Given the description of an element on the screen output the (x, y) to click on. 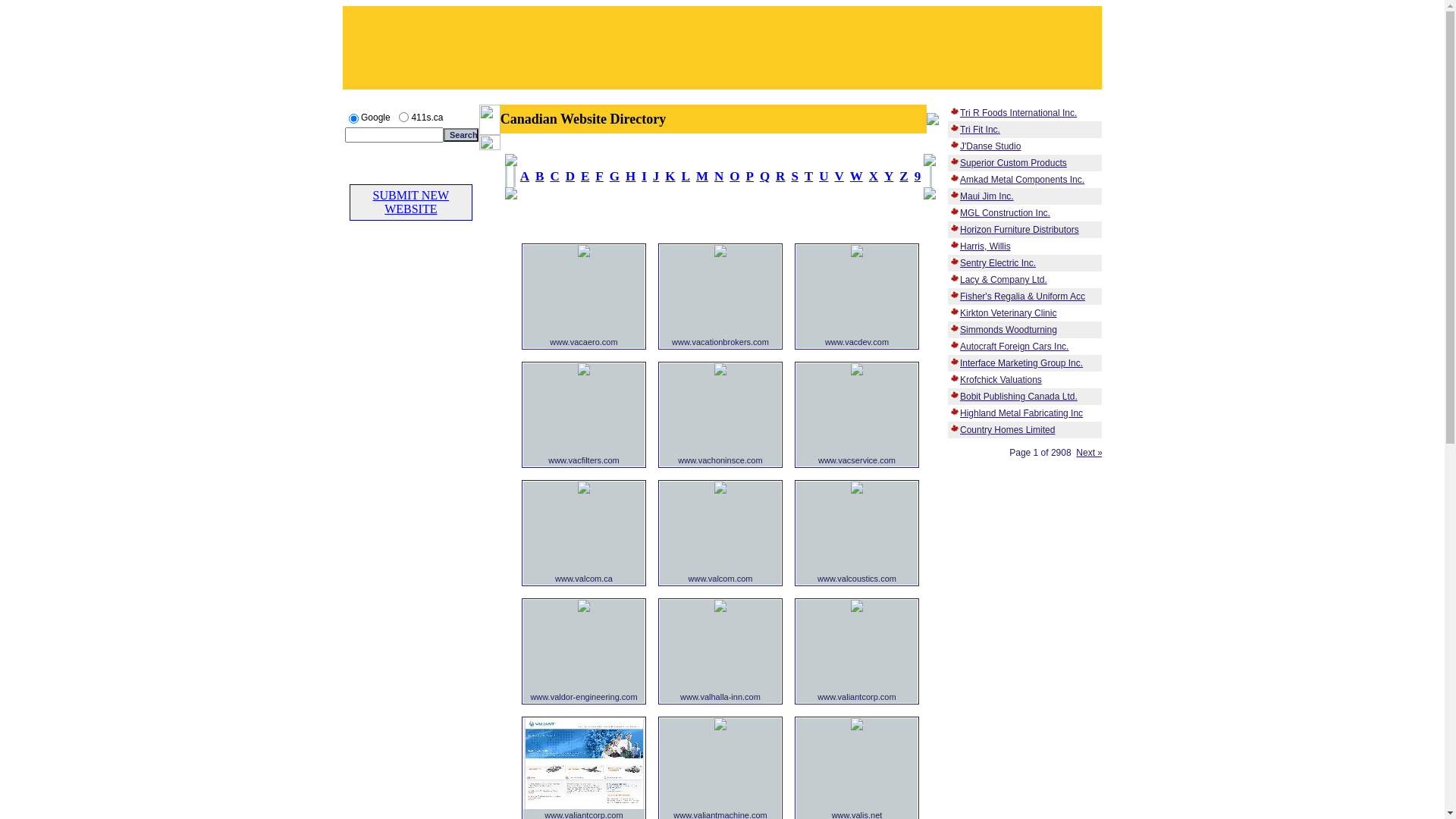
Valcom Manufacturing Group Element type: hover (583, 489)
U Element type: text (823, 176)
Z Element type: text (903, 176)
Y Element type: text (888, 176)
www.valcom.ca Element type: text (583, 578)
www.valcoustics.com Element type: text (856, 578)
K Element type: text (669, 176)
N Element type: text (718, 176)
P Element type: text (749, 176)
Vac Developments Ltd. Element type: hover (856, 252)
www.vacationbrokers.com Element type: text (719, 341)
D Element type: text (569, 176)
Valiant Tool & Mold Inc. Element type: hover (856, 607)
A Element type: text (524, 176)
9 Element type: text (917, 176)
Valis Inc. Element type: hover (856, 725)
T Element type: text (808, 176)
www.vacfilters.com Element type: text (583, 459)
Valhalla Inn - Toronto Element type: hover (720, 607)
G Element type: text (614, 176)
www.valdor-engineering.com Element type: text (583, 696)
O Element type: text (734, 176)
Vacation Brokers Inc. Element type: hover (720, 252)
www.valiantcorp.com Element type: text (856, 696)
F Element type: text (598, 176)
B Element type: text (539, 176)
E Element type: text (584, 176)
www.vacdev.com Element type: text (856, 341)
Valiant Machine & Tool Inc. Element type: hover (720, 725)
SUBMIT NEW WEBSITE Element type: text (411, 201)
X Element type: text (873, 176)
J Element type: text (655, 176)
C Element type: text (553, 176)
S Element type: text (793, 176)
APC Filtration Inc. Element type: hover (583, 370)
www.vacservice.com Element type: text (856, 459)
Global I.E.M. Element type: hover (583, 804)
R Element type: text (779, 176)
L Element type: text (685, 176)
VAC Service of Canada Element type: hover (856, 370)
Valdor Engineering Inc. Element type: hover (583, 607)
H Element type: text (630, 176)
www.valhalla-inn.com Element type: text (720, 696)
www.vachoninsce.com Element type: text (719, 459)
Q Element type: text (764, 176)
Valcoustics Canada Ltd. Element type: hover (856, 489)
Vachon Enright & Peter Ins. Element type: hover (720, 370)
W Element type: text (856, 176)
I Element type: text (643, 176)
V Element type: text (838, 176)
www.valcom.com Element type: text (720, 578)
VAC AERO International Inc. Element type: hover (583, 252)
M Element type: text (702, 176)
www.vacaero.com Element type: text (583, 341)
CMX Corporation - Valcom Element type: hover (720, 489)
